Given the description of an element on the screen output the (x, y) to click on. 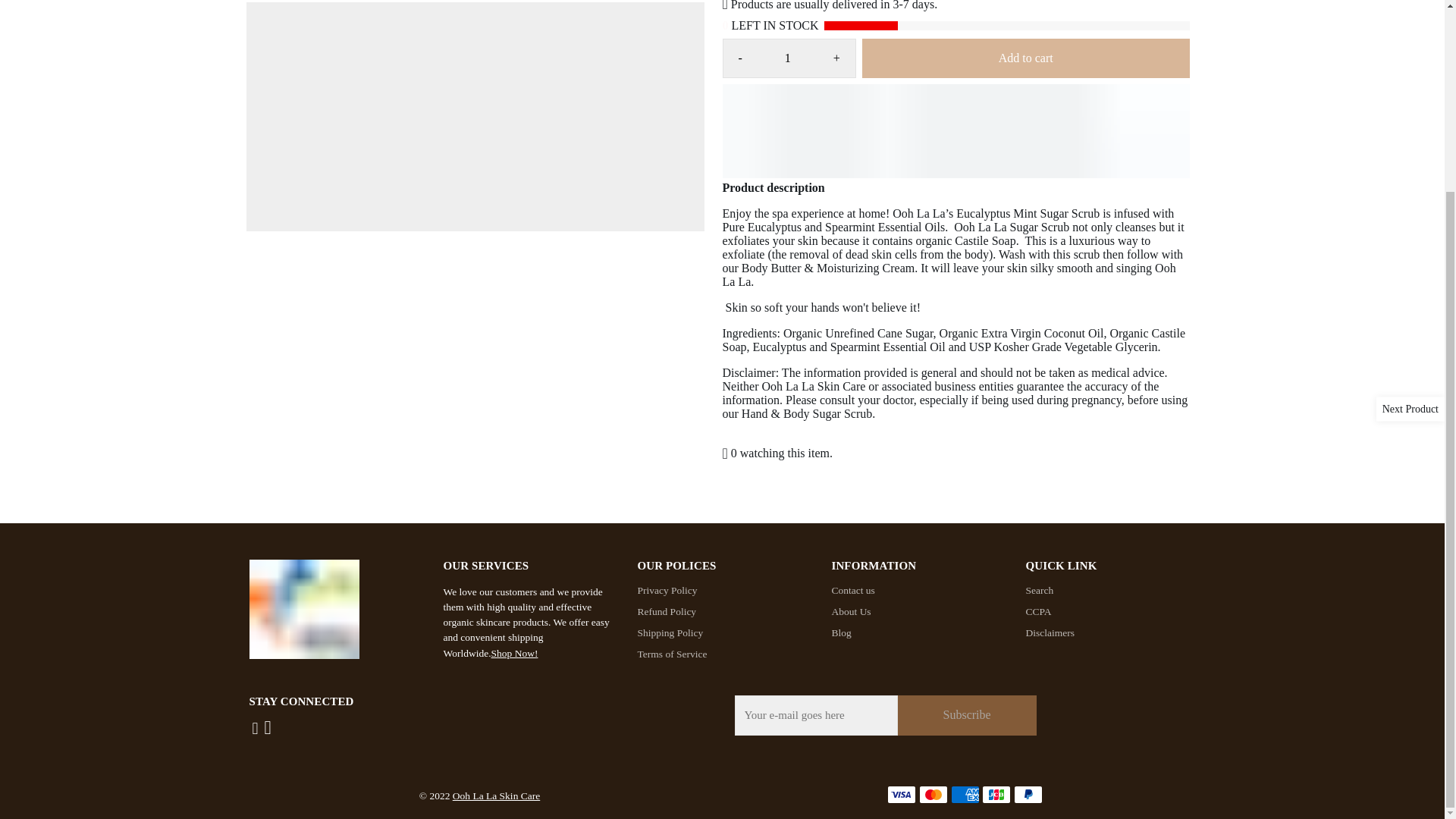
JCB (995, 794)
PayPal (1027, 794)
American Express (964, 794)
All Products (515, 653)
Mastercard (932, 794)
1 (787, 57)
Visa (900, 794)
